Given the description of an element on the screen output the (x, y) to click on. 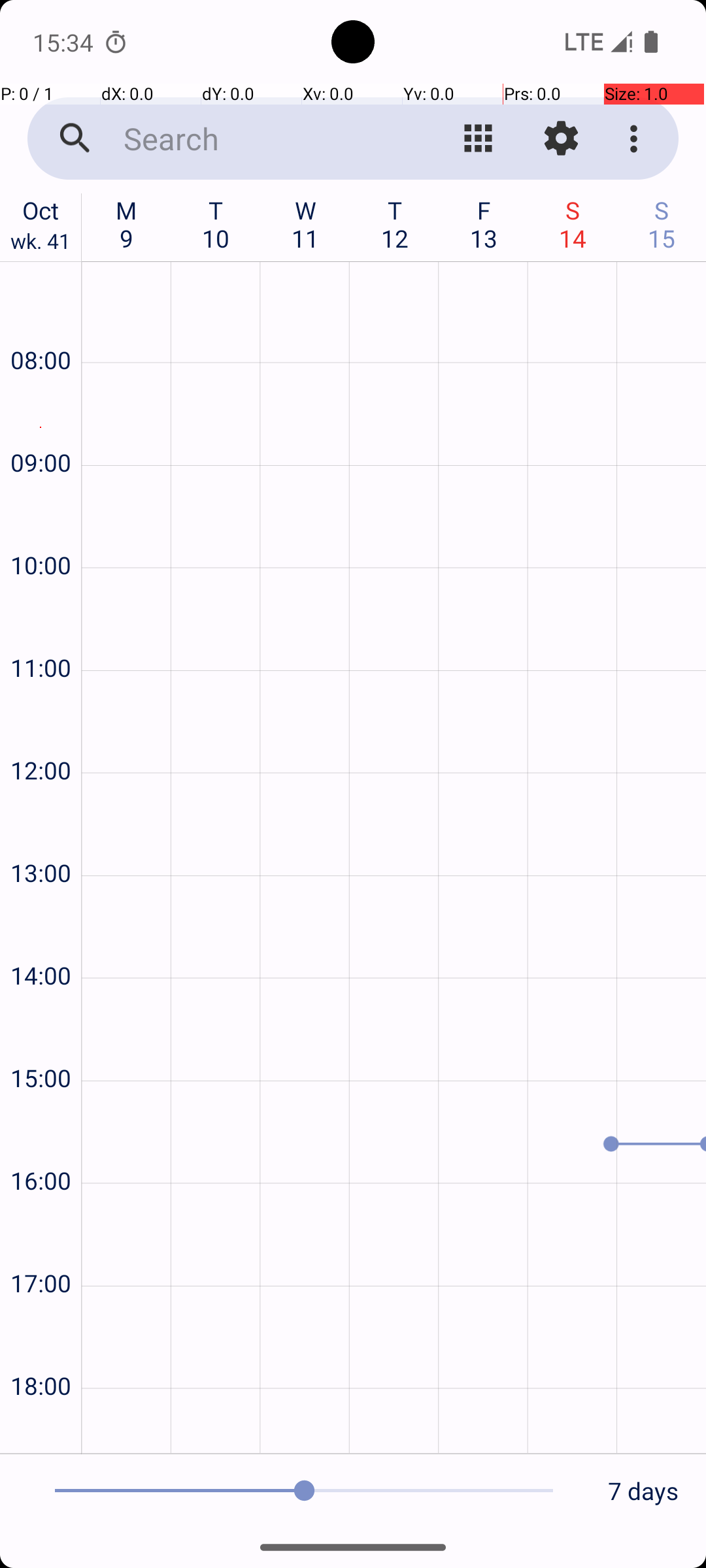
wk. 41 Element type: android.widget.TextView (40, 243)
M
9 Element type: android.widget.TextView (126, 223)
T
10 Element type: android.widget.TextView (215, 223)
W
11 Element type: android.widget.TextView (305, 223)
T
12 Element type: android.widget.TextView (394, 223)
F
13 Element type: android.widget.TextView (483, 223)
S
14 Element type: android.widget.TextView (572, 223)
